Given the description of an element on the screen output the (x, y) to click on. 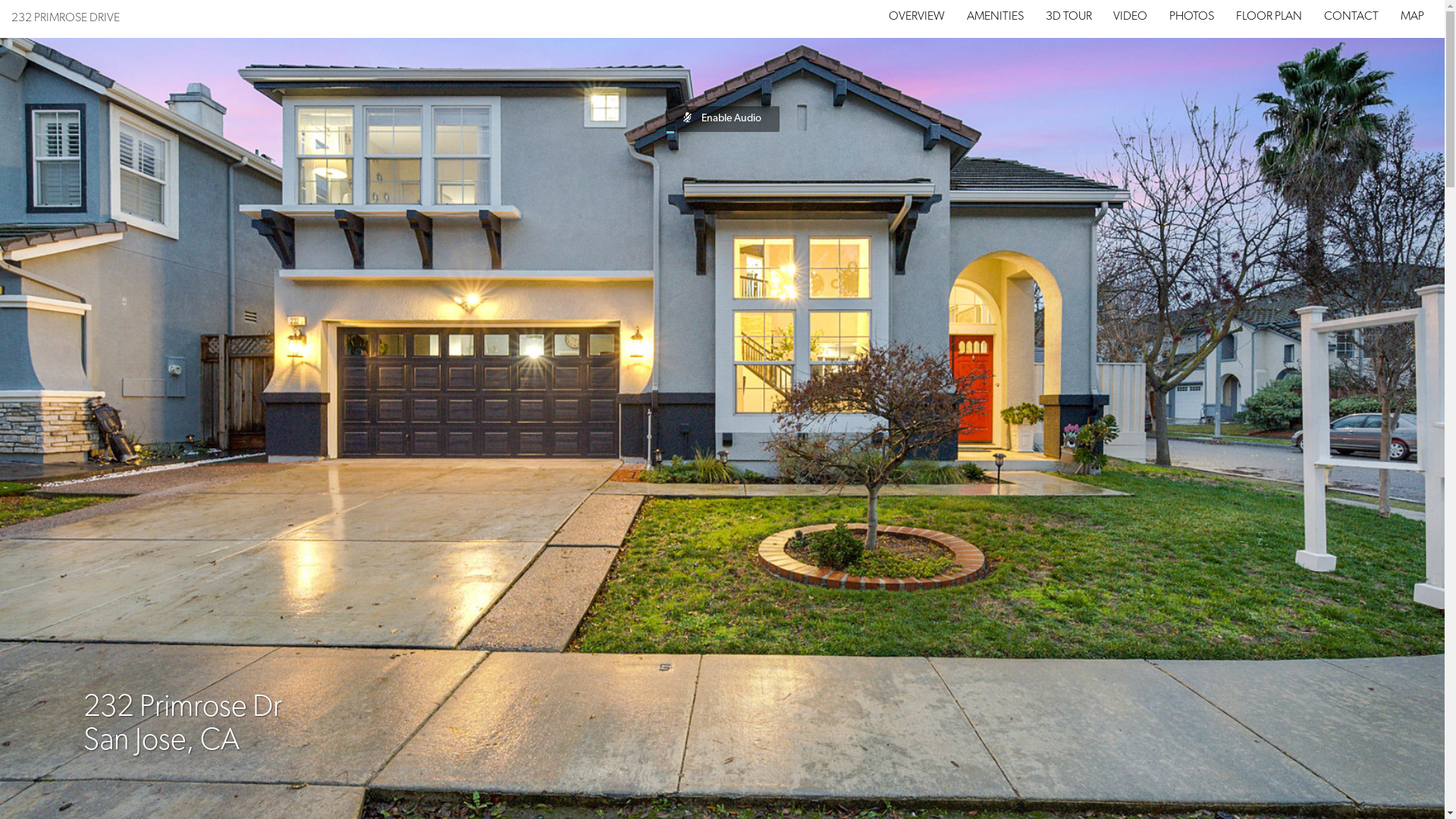
VIDEO Element type: text (1130, 16)
OVERVIEW Element type: text (916, 16)
AMENITIES Element type: text (994, 16)
MAP Element type: text (1412, 16)
CONTACT Element type: text (1351, 16)
FLOOR PLAN Element type: text (1269, 16)
3D TOUR Element type: text (1068, 16)
PHOTOS Element type: text (1191, 16)
